Given the description of an element on the screen output the (x, y) to click on. 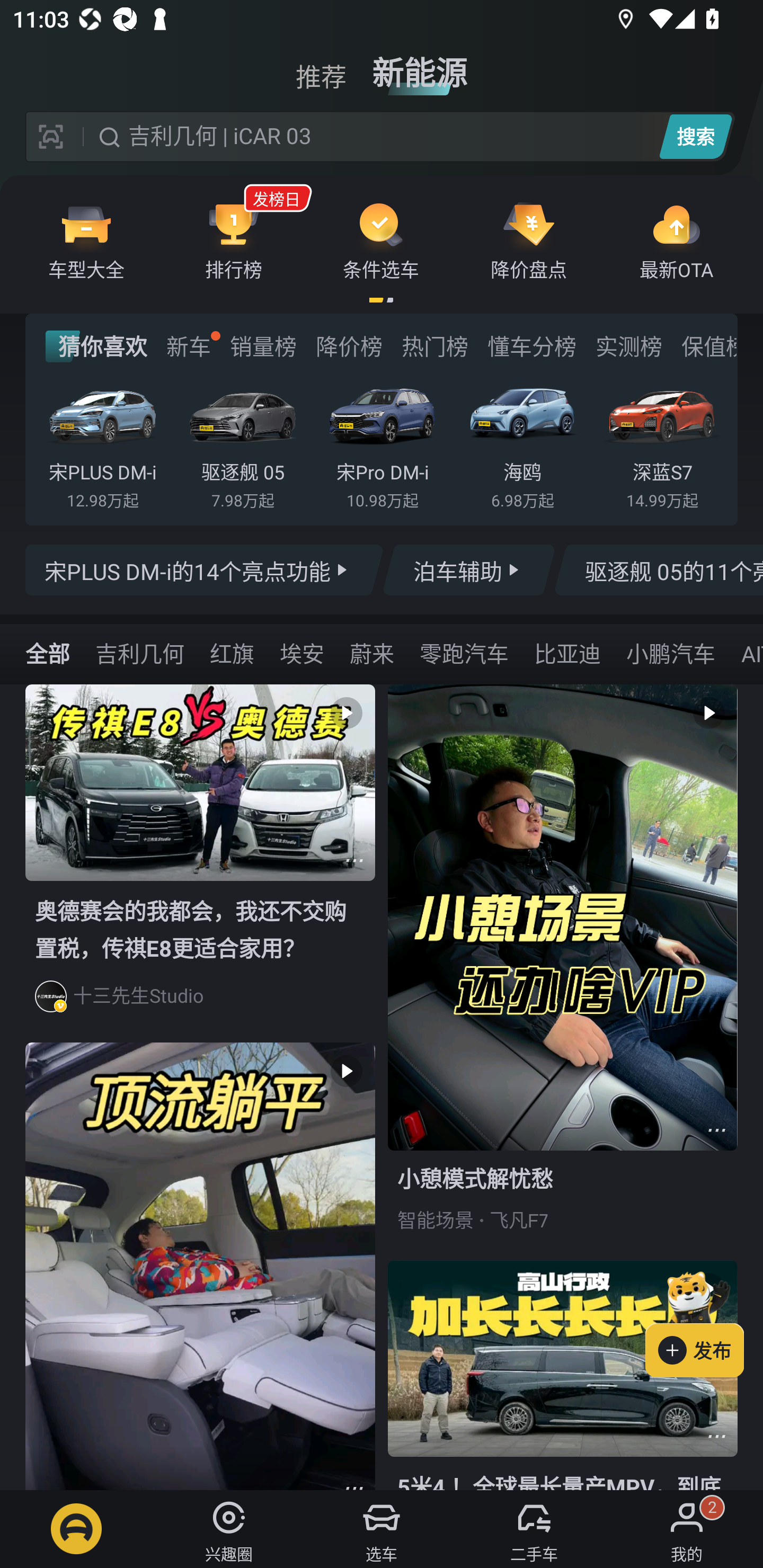
推荐 (321, 65)
新能源 (419, 65)
搜索 (695, 136)
车型大全 (86, 240)
发榜日 排行榜 (233, 240)
条件选车 (380, 240)
降价盘点 (528, 240)
最新OTA (676, 240)
猜你喜欢 (96, 346)
新车 (188, 346)
销量榜 (262, 346)
降价榜 (348, 346)
热门榜 (434, 346)
懂车分榜 (531, 346)
实测榜 (628, 346)
保值榜 (708, 346)
宋PLUS DM-i 12.98万起 (102, 442)
驱逐舰 05 7.98万起 (242, 442)
宋Pro DM-i 10.98万起 (382, 442)
海鸥 6.98万起 (522, 442)
深蓝S7 14.99万起 (662, 442)
宋PLUS DM-i的14个亮点功能 (204, 569)
泊车辅助 (468, 569)
驱逐舰 05的11个亮点功能 (658, 569)
全部 (47, 652)
吉利几何 (139, 652)
红旗 (231, 652)
埃安 (302, 652)
蔚来 (371, 652)
零跑汽车 (463, 652)
比亚迪 (567, 652)
小鹏汽车 (670, 652)
  奥德赛会的我都会，我还不交购置税，传祺E8更适合家用？ 十三先生Studio (200, 862)
  小憩模式解忧愁 智能场景 飞凡F7 (562, 971)
 (354, 860)
  (200, 1265)
 (716, 1130)
飞凡F7 (518, 1220)
  5米4 ！全球最长量产MPV，到底好不好开？ (562, 1374)
发布 (704, 1320)
 (716, 1436)
 兴趣圈 (228, 1528)
 选车 (381, 1528)
 二手车 (533, 1528)
 我的 (686, 1528)
